Given the description of an element on the screen output the (x, y) to click on. 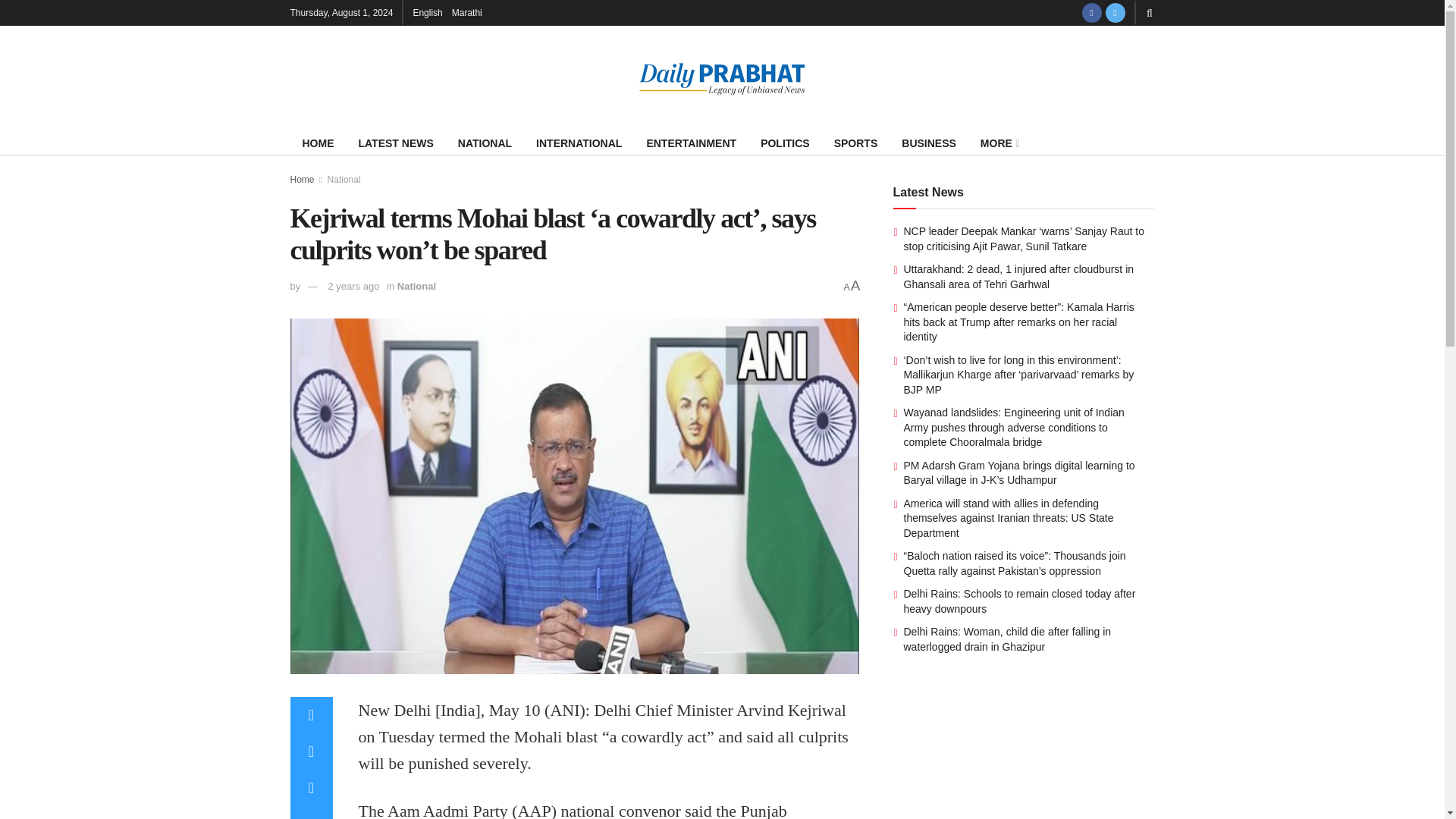
LATEST NEWS (395, 142)
Home (301, 179)
NATIONAL (484, 142)
BUSINESS (928, 142)
SPORTS (855, 142)
National (344, 179)
POLITICS (785, 142)
2 years ago (352, 285)
HOME (317, 142)
Advertisement (1023, 755)
INTERNATIONAL (578, 142)
Marathi (466, 12)
English (427, 12)
National (416, 285)
MORE (998, 142)
